Given the description of an element on the screen output the (x, y) to click on. 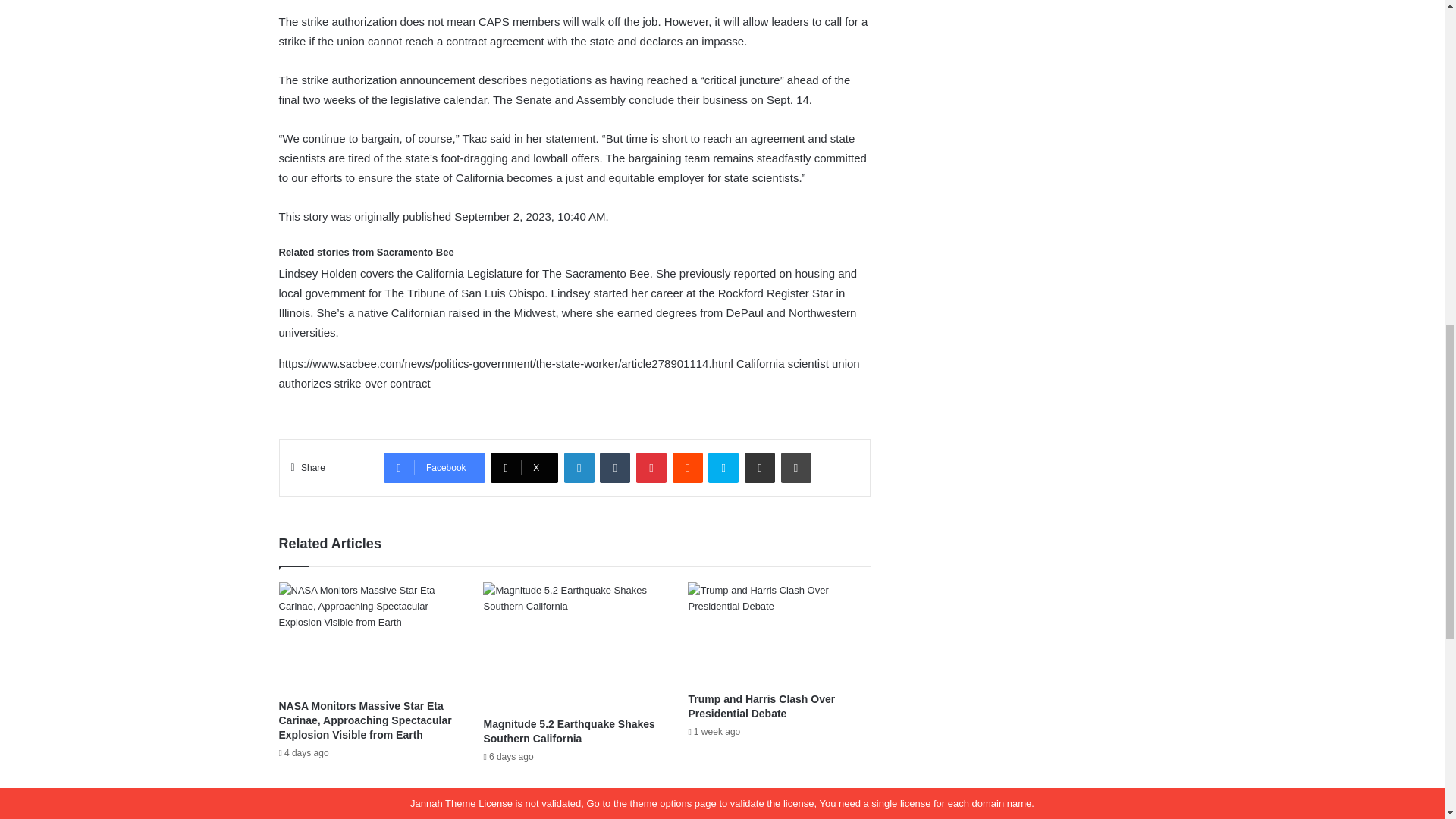
LinkedIn (579, 467)
Reddit (687, 467)
Tumblr (614, 467)
Skype (722, 467)
X (523, 467)
Tumblr (614, 467)
Pinterest (651, 467)
Facebook (434, 467)
Pinterest (651, 467)
Facebook (434, 467)
